Given the description of an element on the screen output the (x, y) to click on. 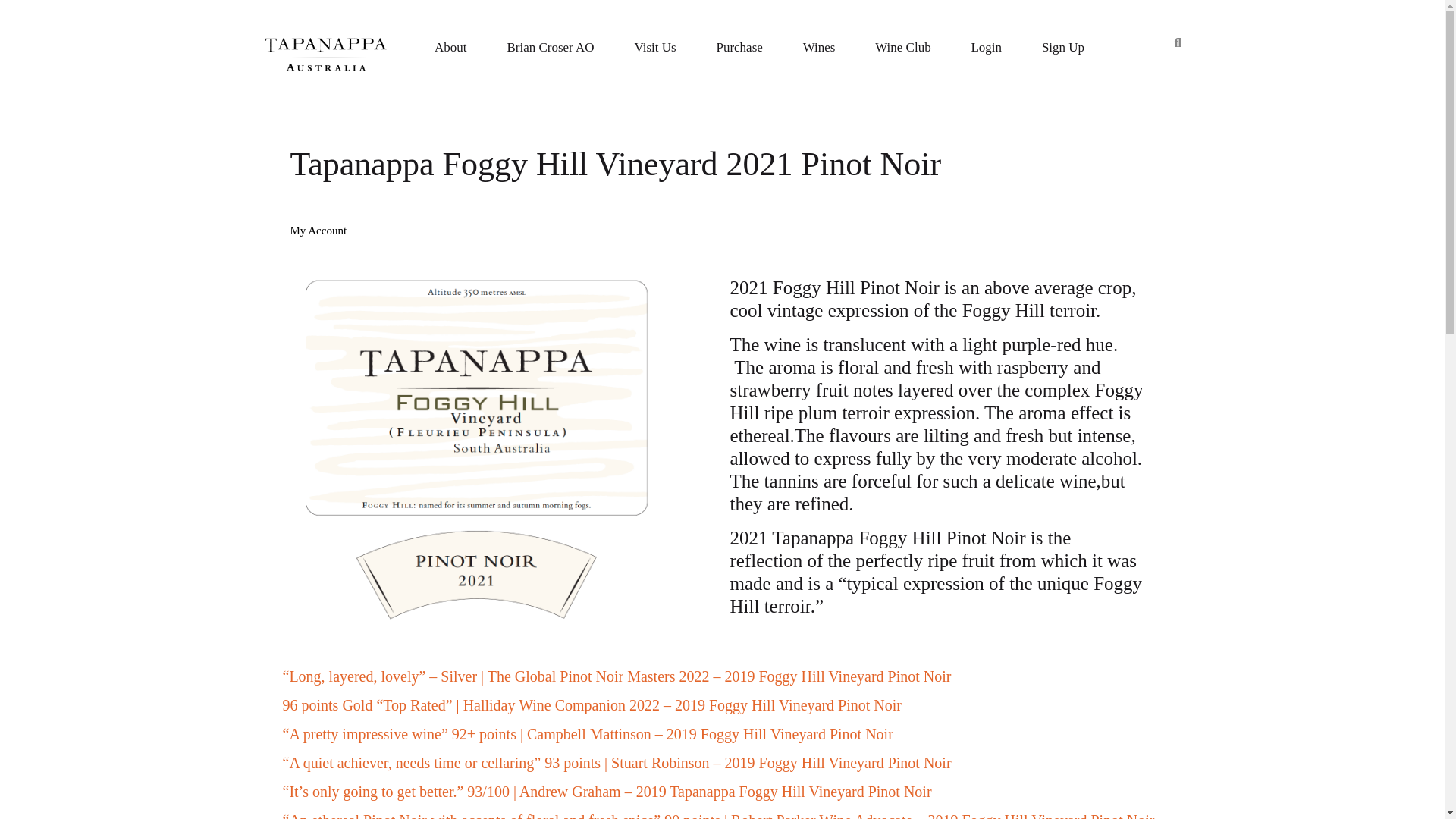
About (450, 47)
Sign Up (1062, 47)
Brian Croser AO (550, 47)
Wine Club (903, 47)
Wines (819, 47)
Purchase (739, 47)
Visit Us (654, 47)
Login (986, 47)
